Given the description of an element on the screen output the (x, y) to click on. 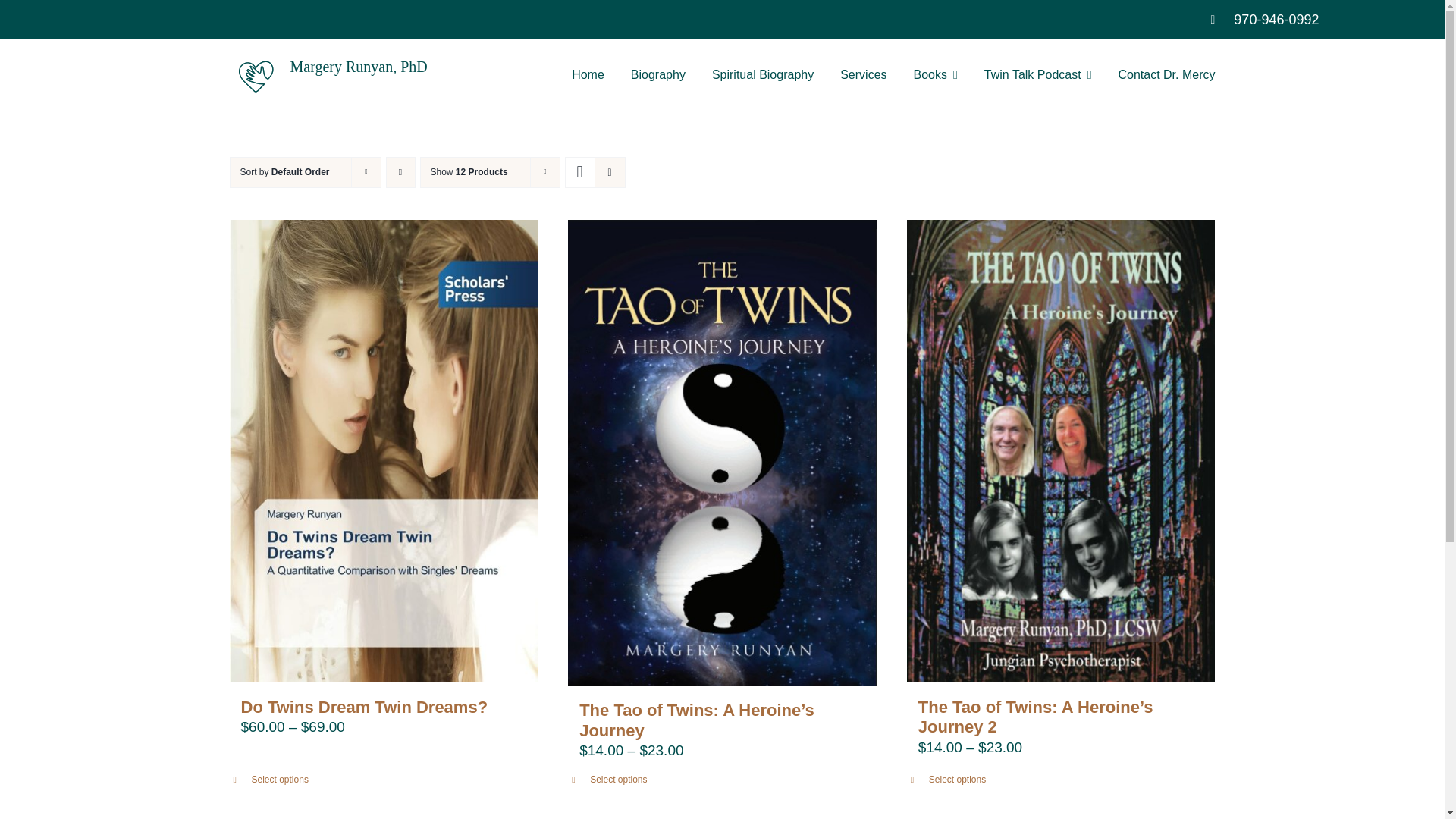
Contact Dr. Mercy (1166, 74)
Twin Talk Podcast (1038, 74)
Books (936, 74)
Biography (657, 74)
Sort by Default Order (284, 172)
Services (863, 74)
970-946-0992 (1276, 19)
Home (588, 74)
Show 12 Products (469, 172)
Spiritual Biography (762, 74)
